Given the description of an element on the screen output the (x, y) to click on. 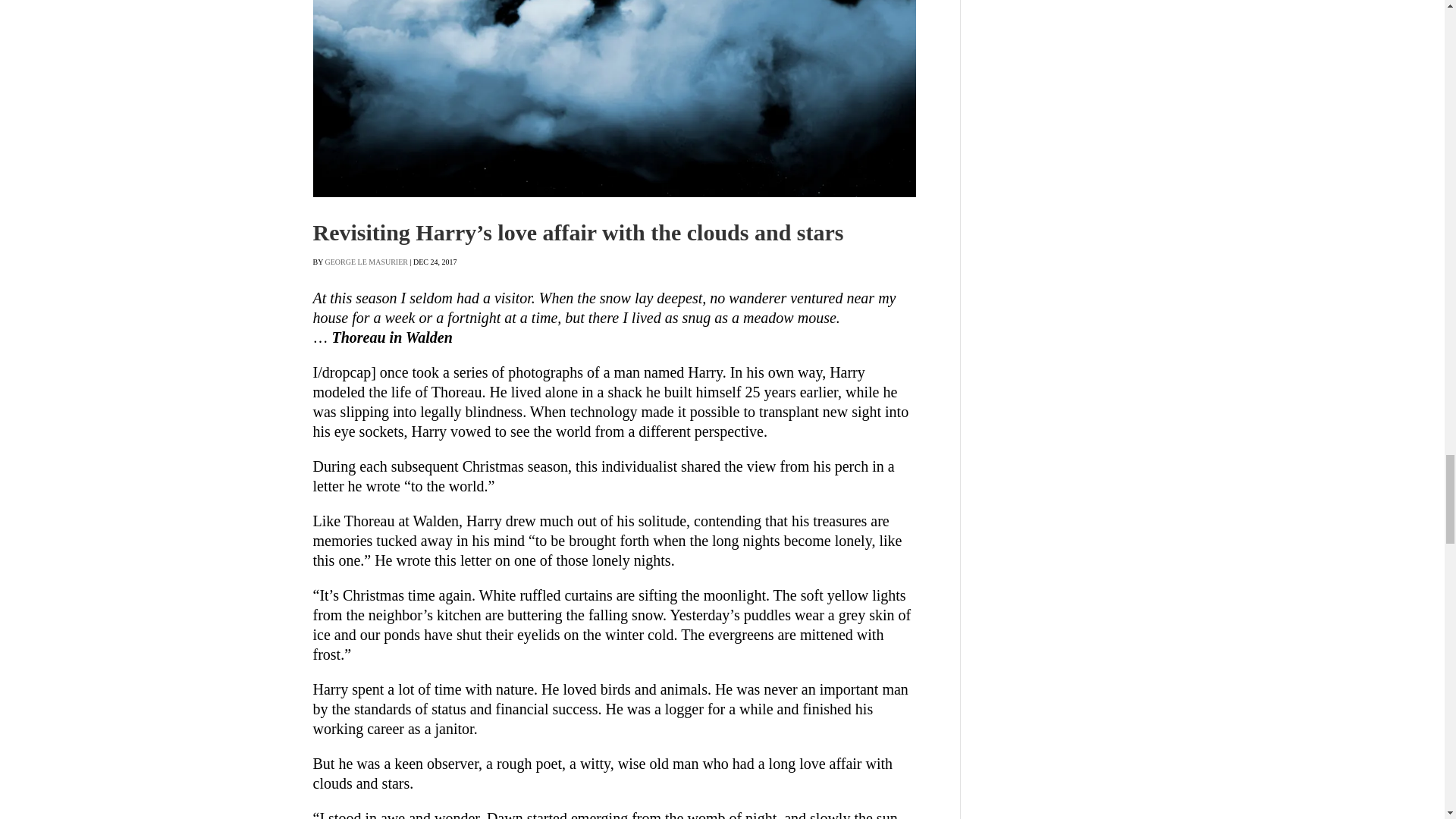
Posts by George Le Masurier (365, 261)
